Given the description of an element on the screen output the (x, y) to click on. 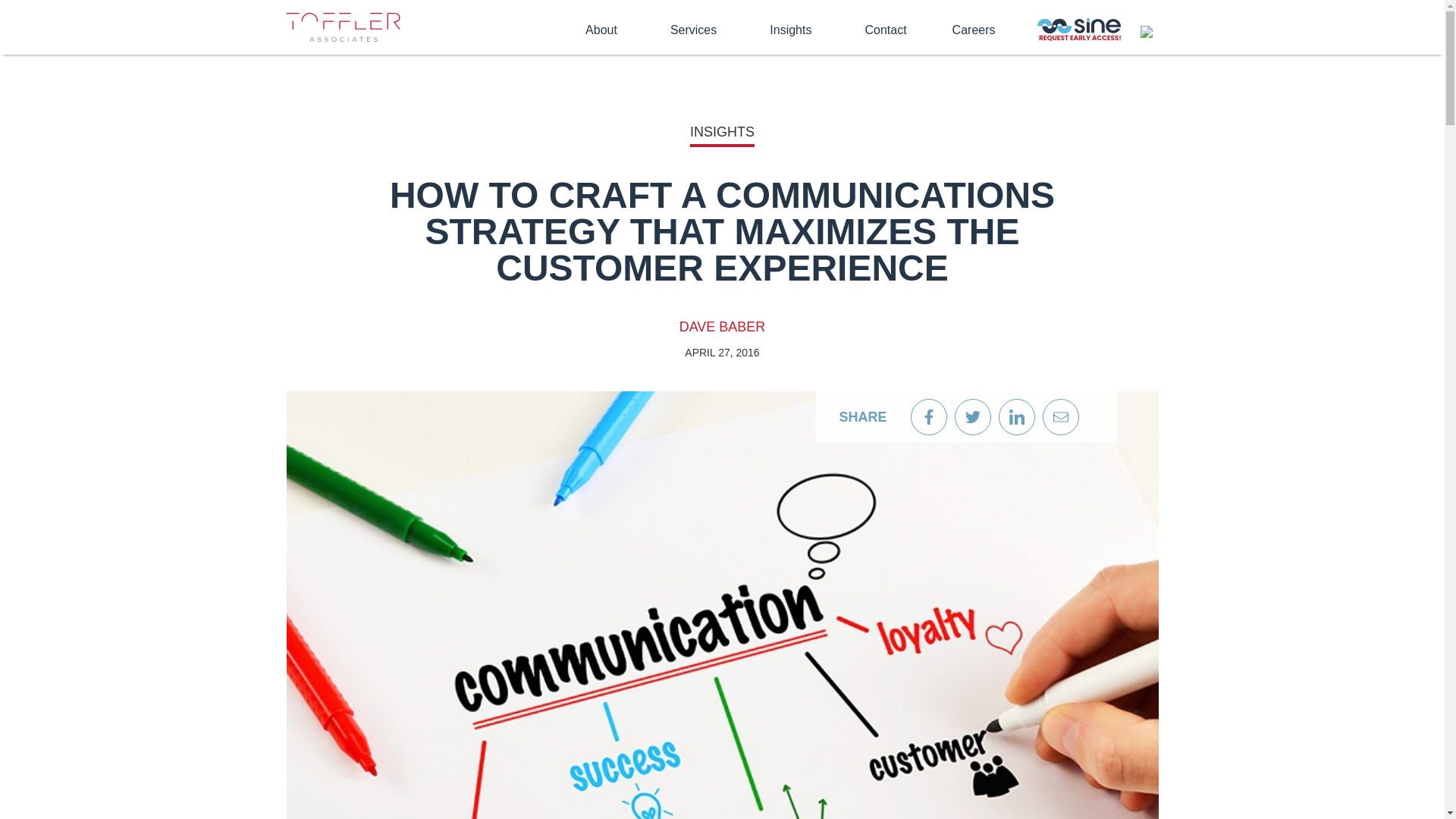
Services (696, 29)
About (604, 29)
linkedin-in-brands (1016, 417)
twitter-brands (971, 417)
Careers (973, 29)
Insights (794, 29)
DAVE BABER (722, 326)
Contact (884, 29)
facebook-f-brands (928, 417)
